Given the description of an element on the screen output the (x, y) to click on. 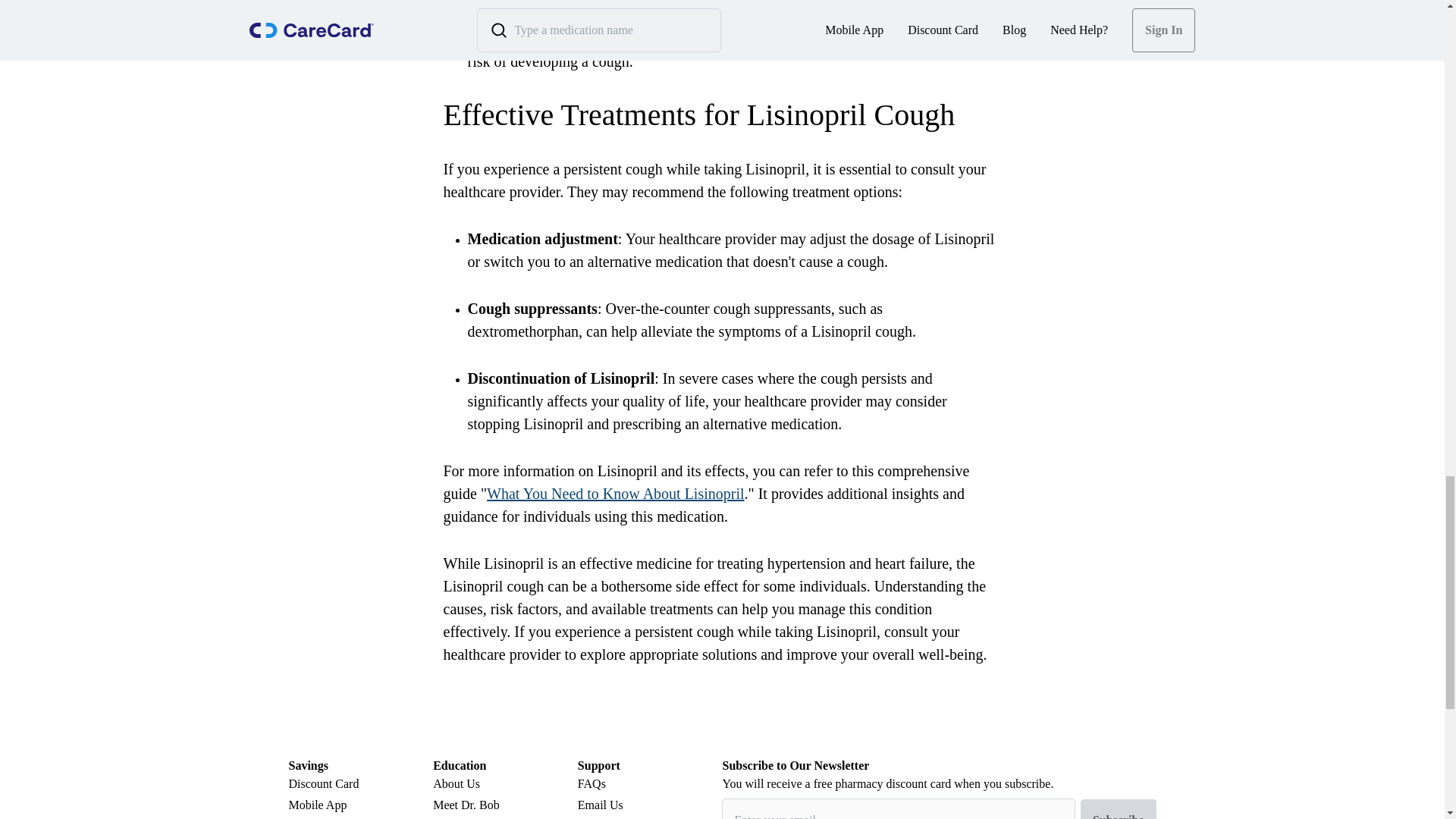
Email Us (650, 805)
FAQs (650, 783)
What You Need to Know About Lisinopril (615, 493)
Account (360, 818)
Subscribe (1118, 809)
About Us (505, 783)
Discount Card (360, 783)
Meet Dr. Bob (505, 805)
Mobile App (360, 805)
Help: 1-866-410-1217 (650, 818)
Blog (505, 818)
